Given the description of an element on the screen output the (x, y) to click on. 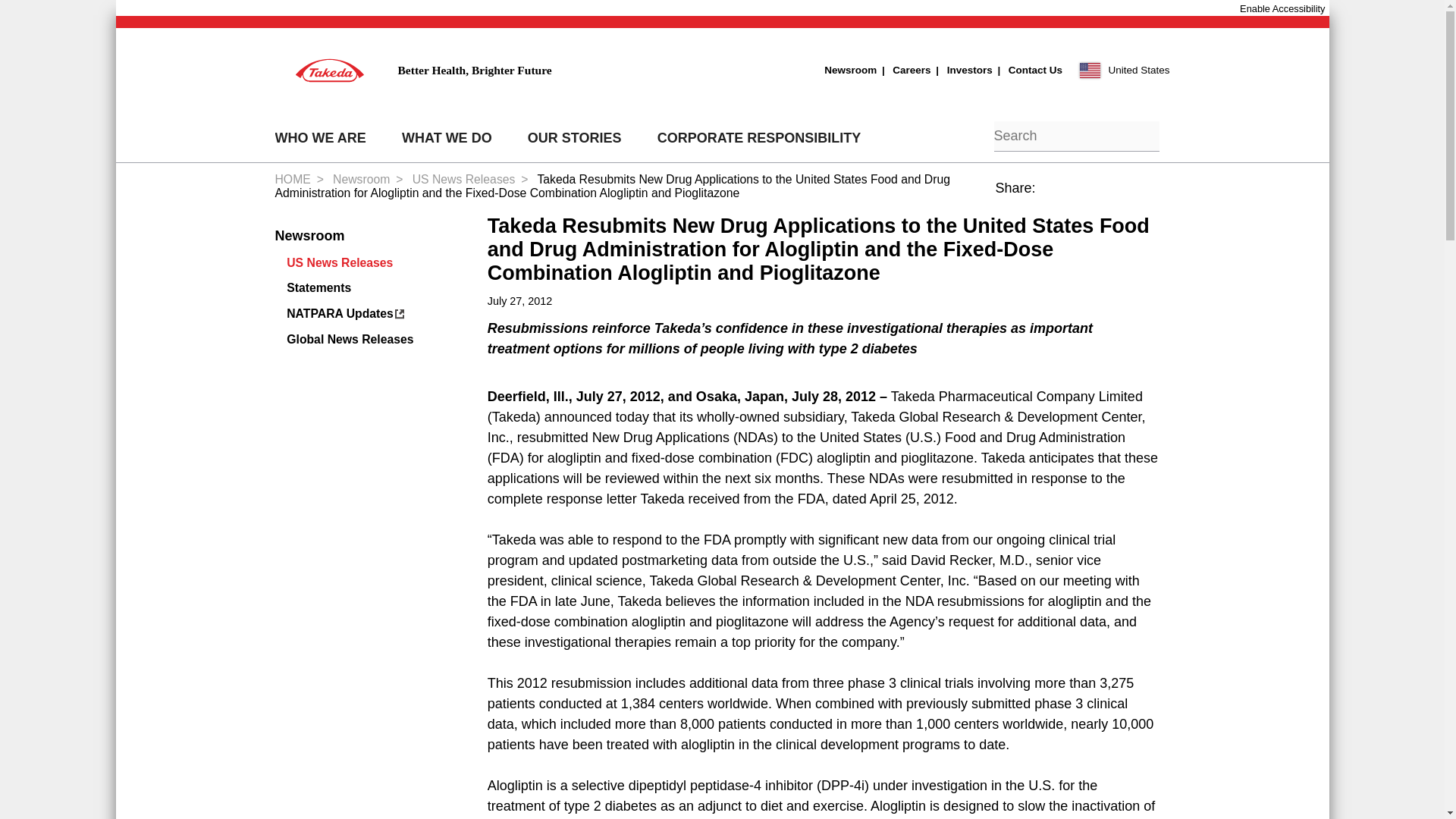
Better Health, Brighter Future (413, 70)
United States (1125, 70)
linkedin (1085, 195)
Contact Us (1027, 70)
Search (973, 137)
Careers (903, 70)
Newsroom (850, 70)
Investors (961, 70)
email (1154, 195)
facebook (1050, 195)
